Given the description of an element on the screen output the (x, y) to click on. 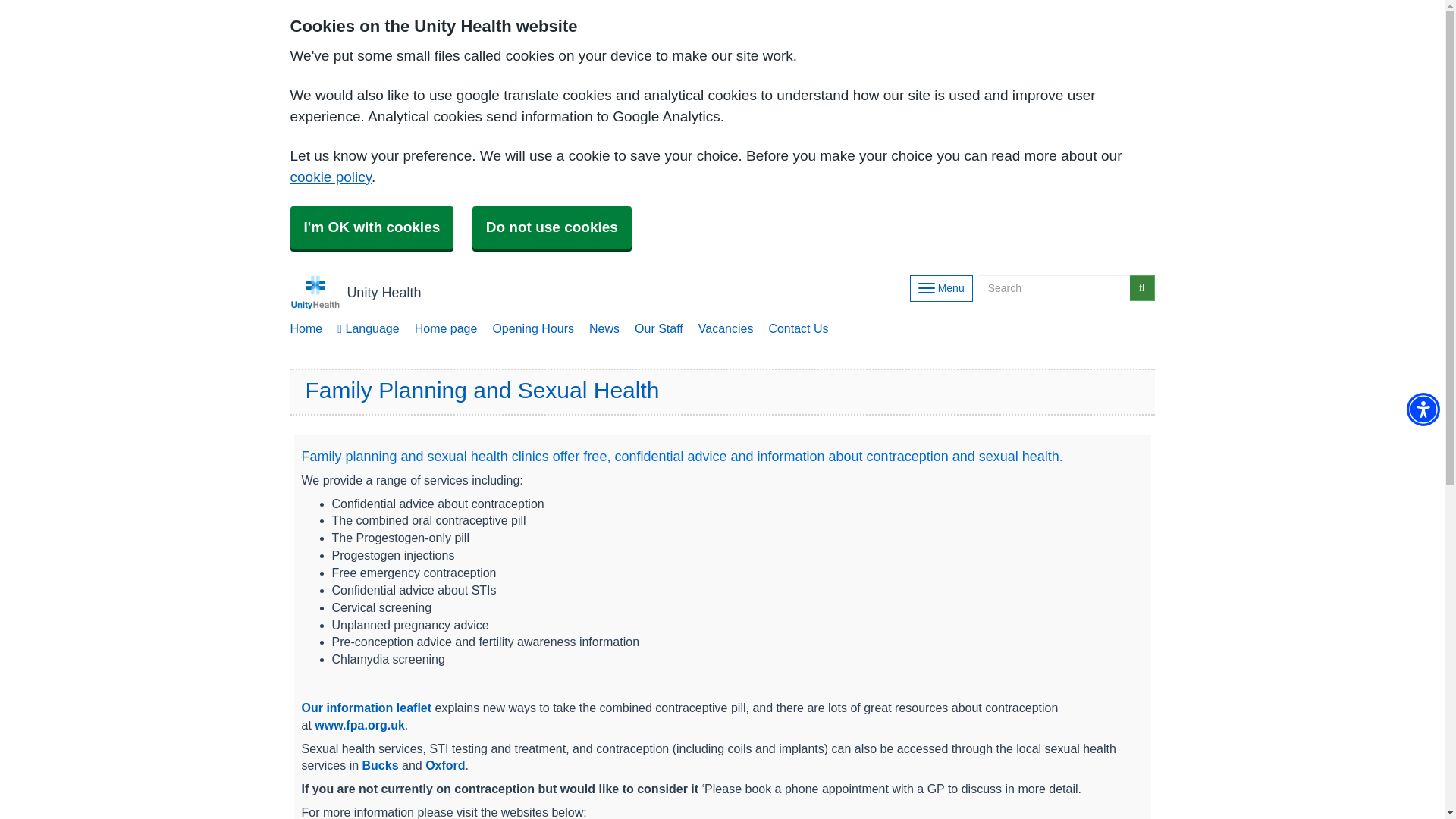
Home page (445, 329)
Language (368, 329)
Menu (941, 288)
Our Staff (658, 329)
Home (306, 329)
Unity Health (354, 292)
Accessibility Menu (1422, 409)
cookie policy (330, 176)
I'm OK with cookies (370, 227)
Do not use cookies (551, 227)
News (603, 329)
Opening Hours (532, 329)
